Given the description of an element on the screen output the (x, y) to click on. 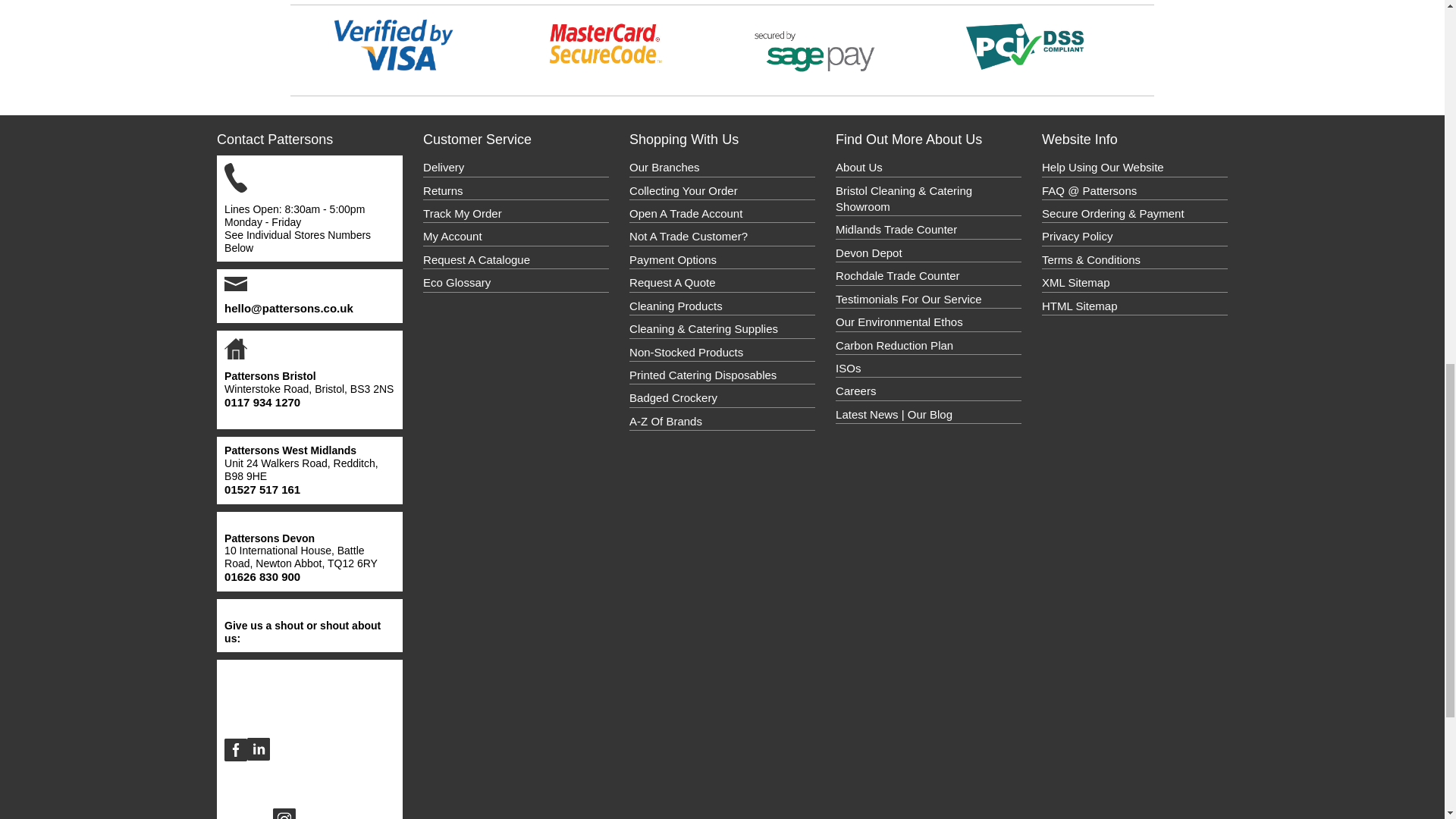
Call Pattersons West Midlands (261, 489)
Call Pattersons Bristol (261, 402)
Say Hello (288, 308)
